Given the description of an element on the screen output the (x, y) to click on. 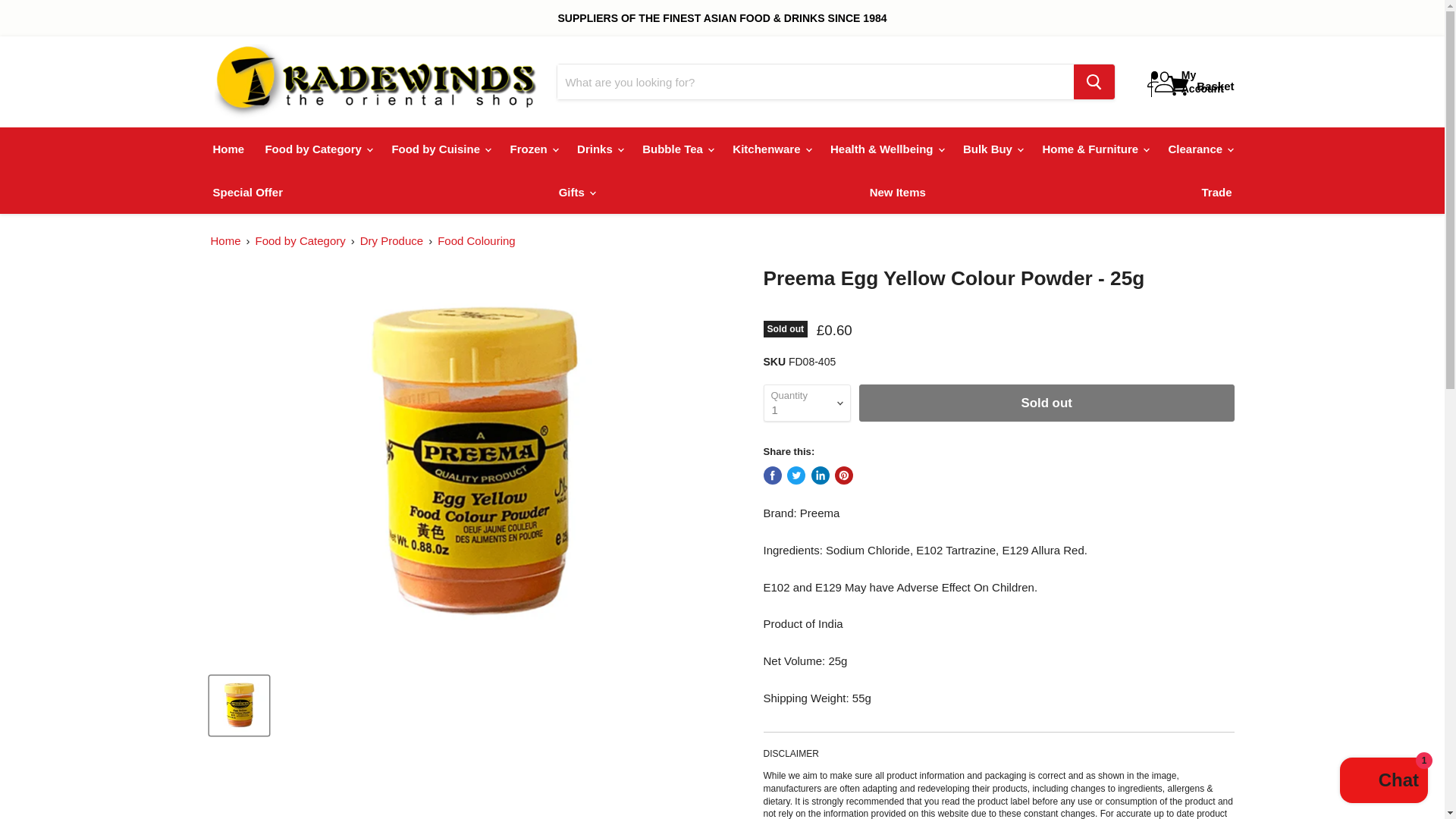
Shopify online store chat (1383, 781)
Food by Category (317, 148)
Home (228, 148)
